Given the description of an element on the screen output the (x, y) to click on. 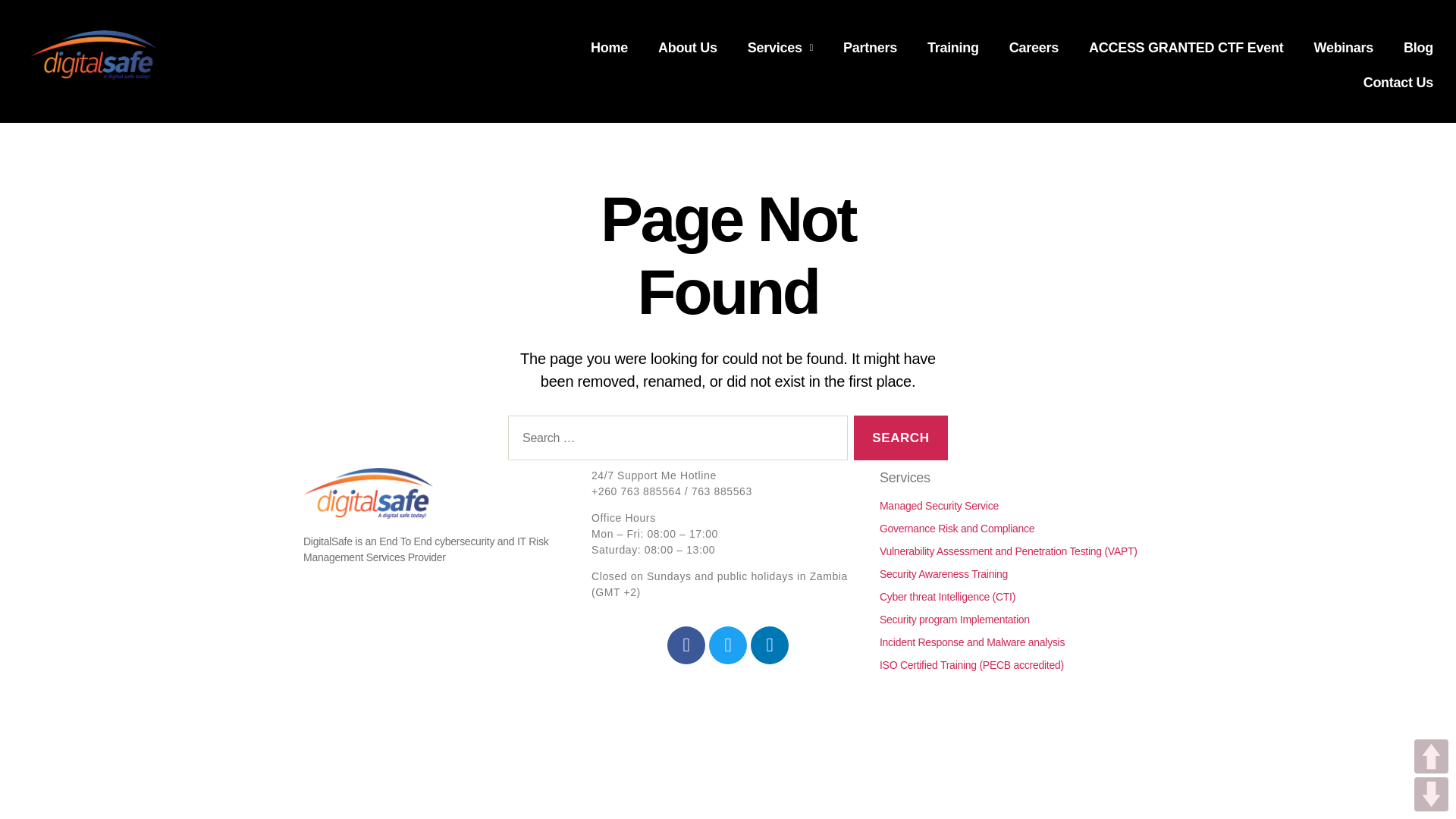
Partners (870, 47)
Careers (1034, 47)
Contact Us (1398, 82)
ACCESS GRANTED CTF Event (1186, 47)
Webinars (1343, 47)
Home (609, 47)
Search (900, 437)
Search (900, 437)
Search (900, 437)
Blog (1418, 47)
